Given the description of an element on the screen output the (x, y) to click on. 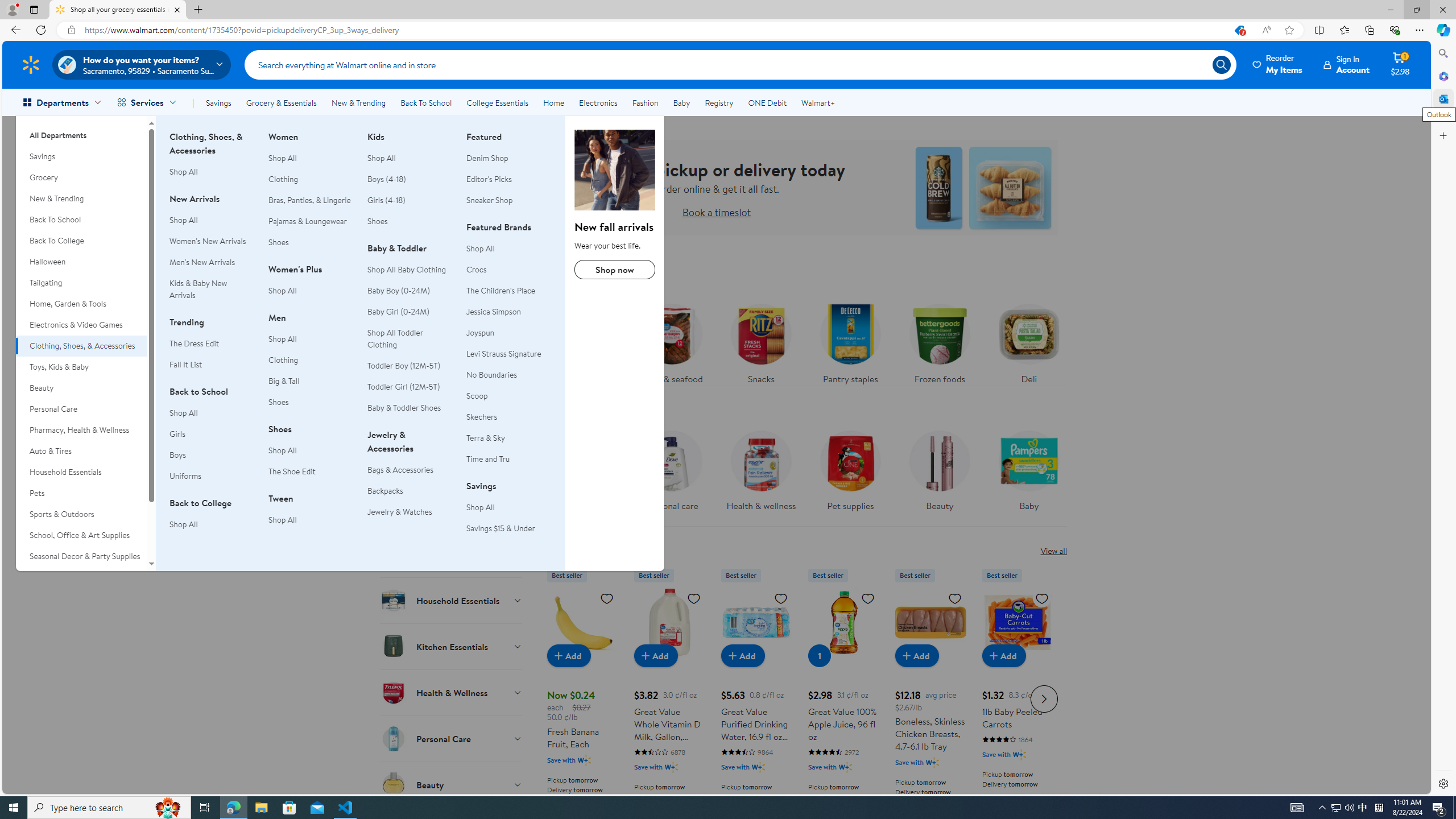
Toddler Girl (12M-5T) (402, 386)
Clothing, Shoes, & Accessories (81, 345)
ShoesShop AllThe Shoe Edit (310, 456)
Backpacks (384, 490)
Personal Care (451, 738)
Baby & Toddler Shoes (403, 407)
Back To School (81, 219)
Home, Garden & Tools (81, 303)
Shop All (508, 507)
Back to SchoolShop AllGirlsBoysUniforms (211, 440)
